Given the description of an element on the screen output the (x, y) to click on. 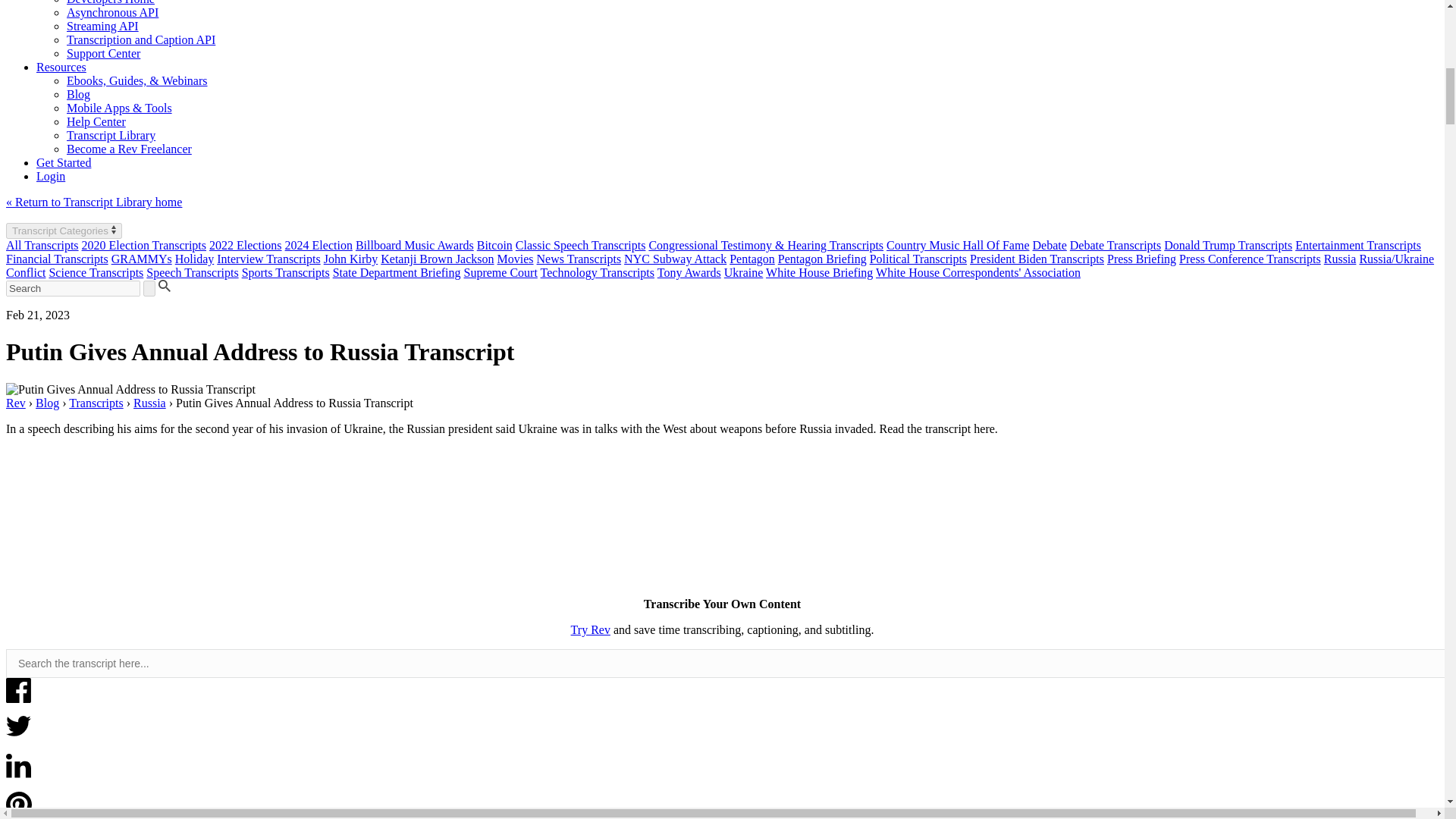
Type and press Enter to search. (721, 288)
Search (72, 288)
Putin Gives Annual Address to Russia Transcript (130, 389)
Search (72, 288)
